Given the description of an element on the screen output the (x, y) to click on. 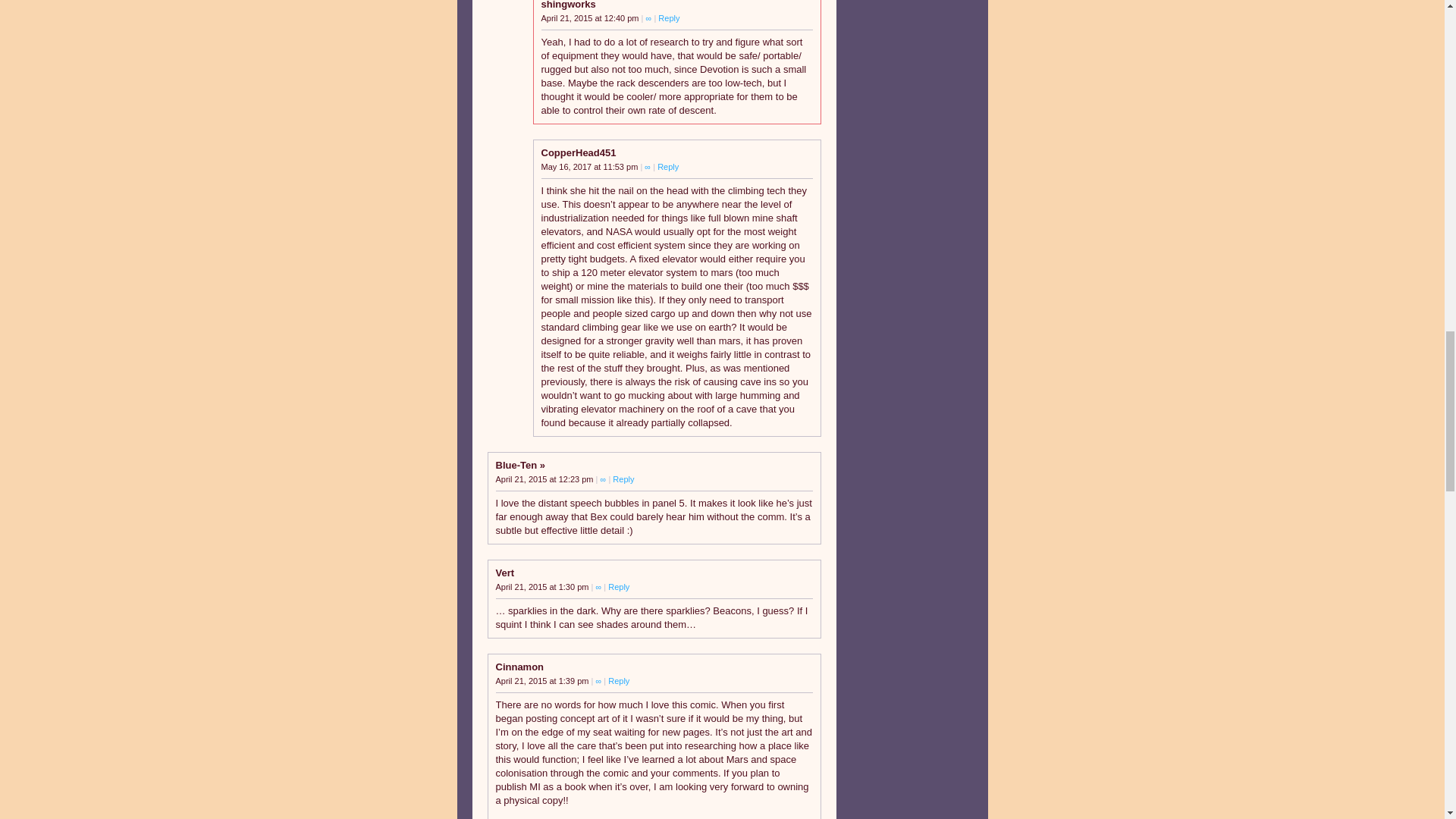
Reply (668, 166)
Reply (668, 17)
Reply (618, 586)
Tuesday, May 16th, 2017, 11:53 pm (590, 166)
Tuesday, April 21st, 2015, 12:40 pm (591, 17)
Blue-Ten (521, 464)
Tuesday, April 21st, 2015, 12:23 pm (545, 479)
Permalink to this comment (647, 166)
Reply (618, 680)
Permalink to this comment (649, 17)
Reply (622, 479)
